Given the description of an element on the screen output the (x, y) to click on. 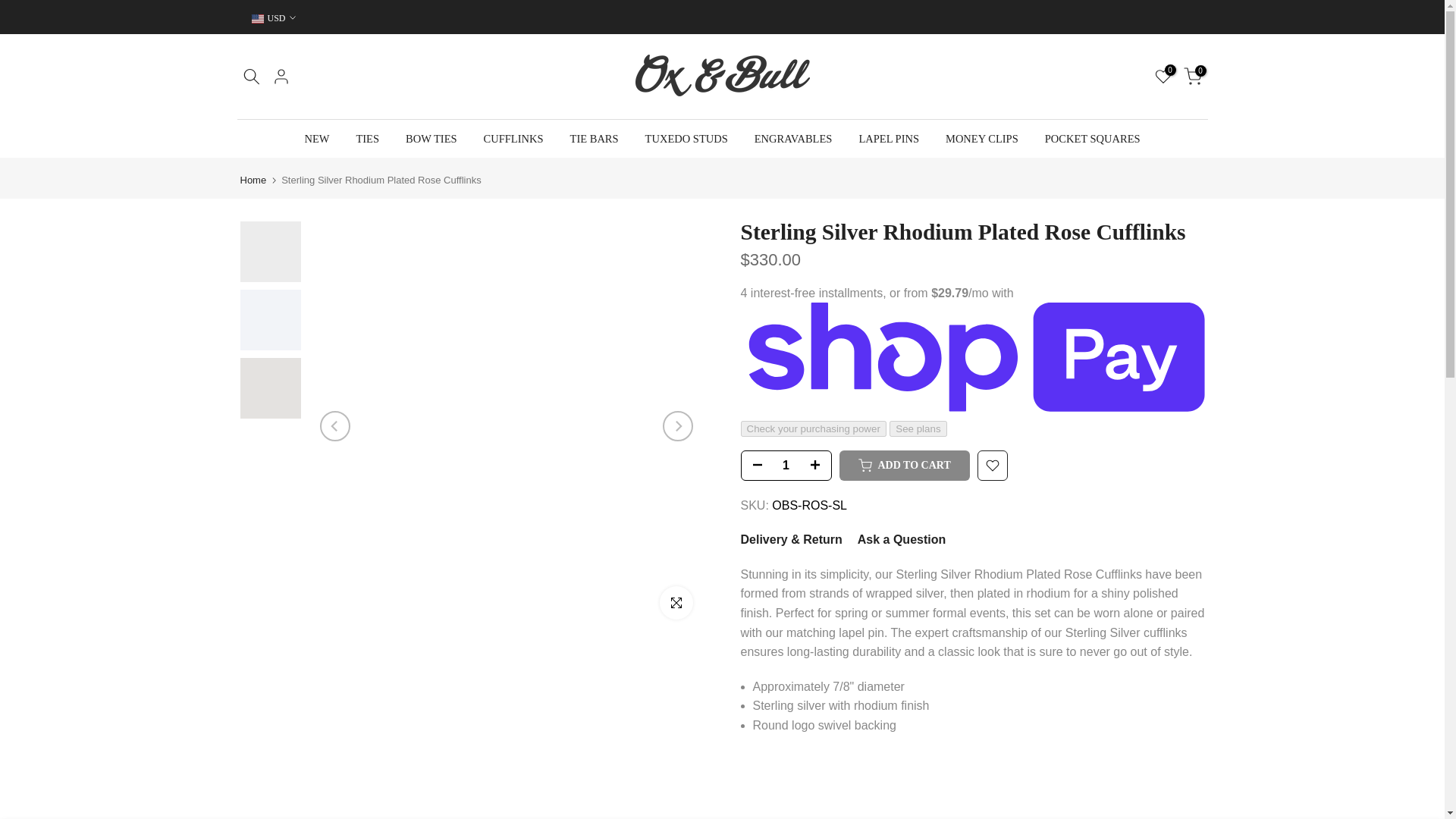
USD (273, 17)
1 (786, 465)
NEW (316, 138)
LAPEL PINS (889, 138)
POCKET SQUARES (1091, 138)
Skip to content (10, 7)
TUXEDO STUDS (686, 138)
0 (1191, 76)
BOW TIES (431, 138)
ENGRAVABLES (793, 138)
TIE BARS (593, 138)
Home (253, 180)
TIES (367, 138)
0 (1162, 76)
MONEY CLIPS (982, 138)
